Given the description of an element on the screen output the (x, y) to click on. 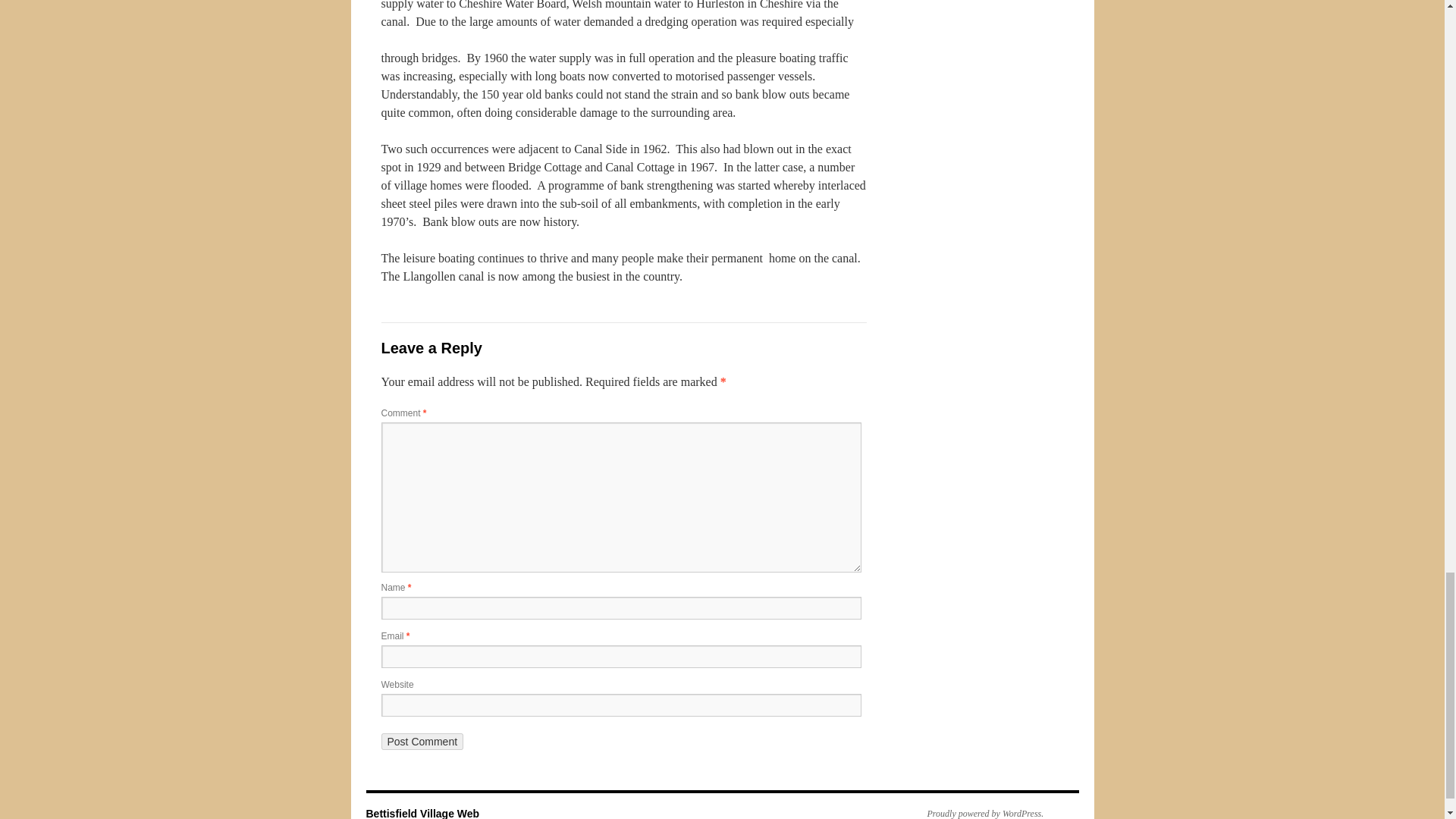
Post Comment (421, 741)
Post Comment (421, 741)
